Given the description of an element on the screen output the (x, y) to click on. 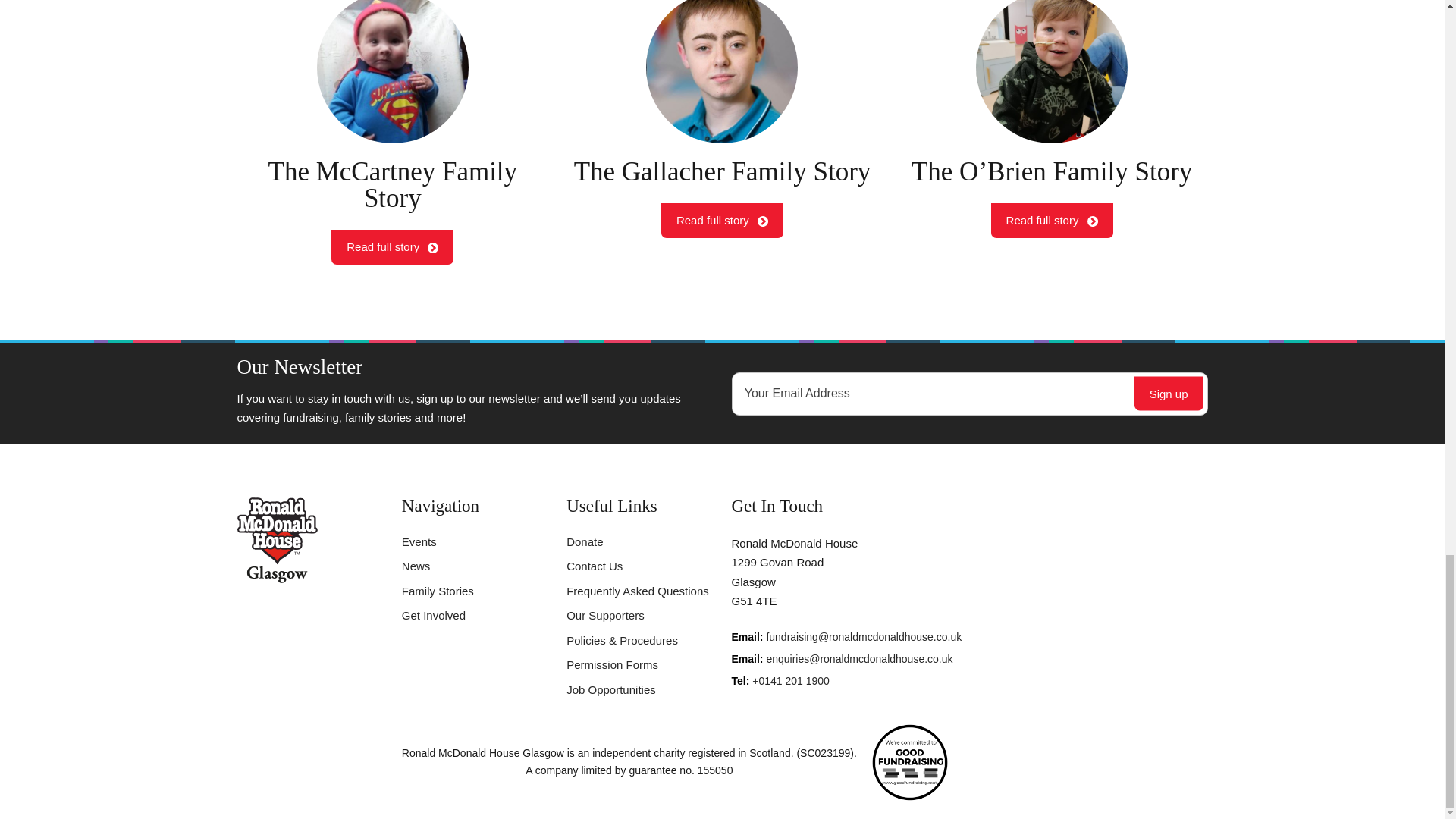
Events (418, 541)
Family Stories (437, 590)
Sign up (1169, 393)
button-arrow (762, 221)
Stephen (721, 71)
Frequently Asked Questions (637, 590)
Our Supporters (605, 615)
Contact Us (594, 565)
Donate (584, 541)
News (391, 132)
button-arrow (415, 565)
Permission Forms (433, 247)
Job Opportunities (721, 132)
